Given the description of an element on the screen output the (x, y) to click on. 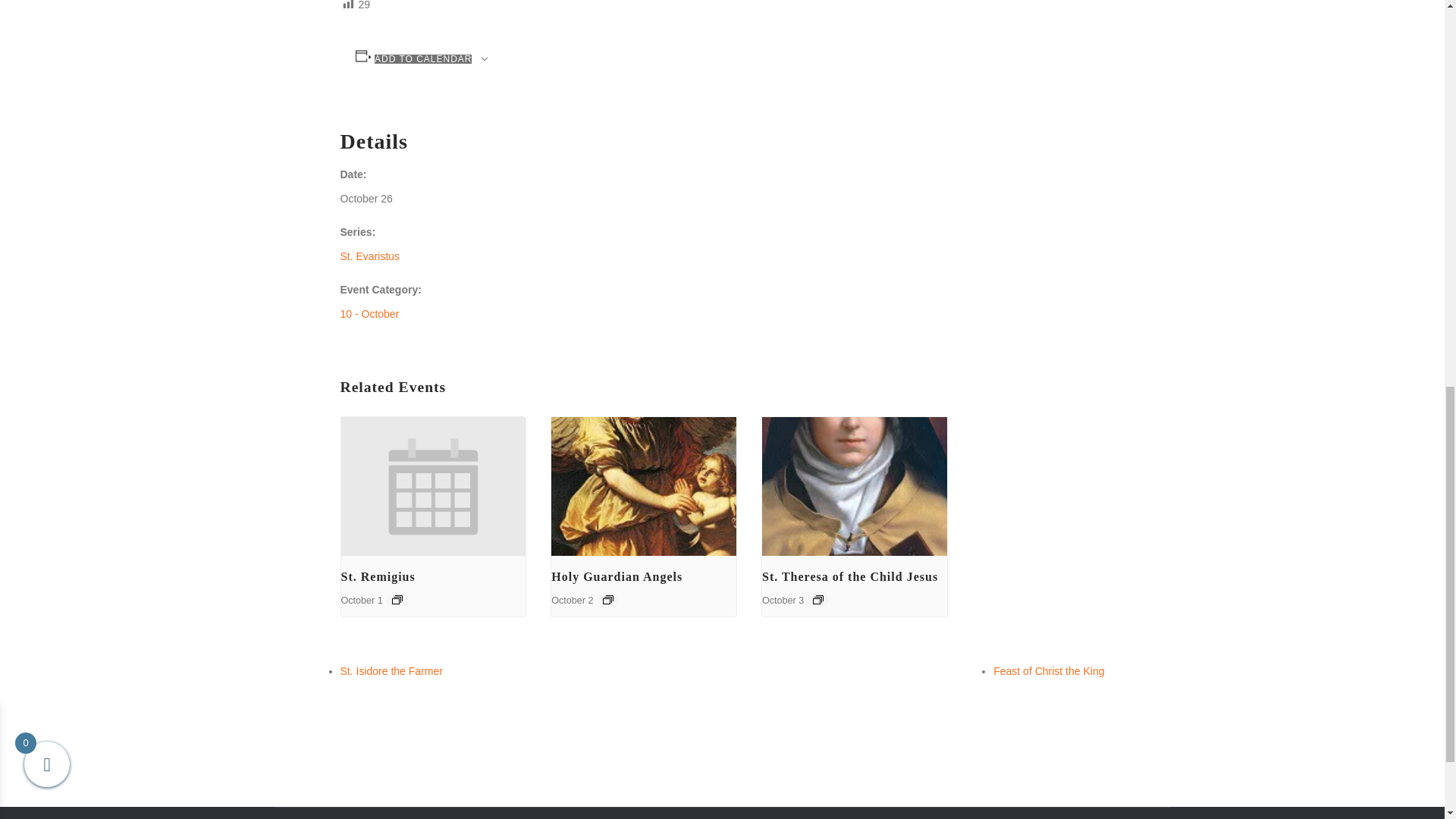
St. Evaristus (368, 256)
2024-10-26 (365, 198)
Event Series (397, 599)
ADD TO CALENDAR (422, 58)
Event Series (607, 599)
Event Series (818, 599)
